Given the description of an element on the screen output the (x, y) to click on. 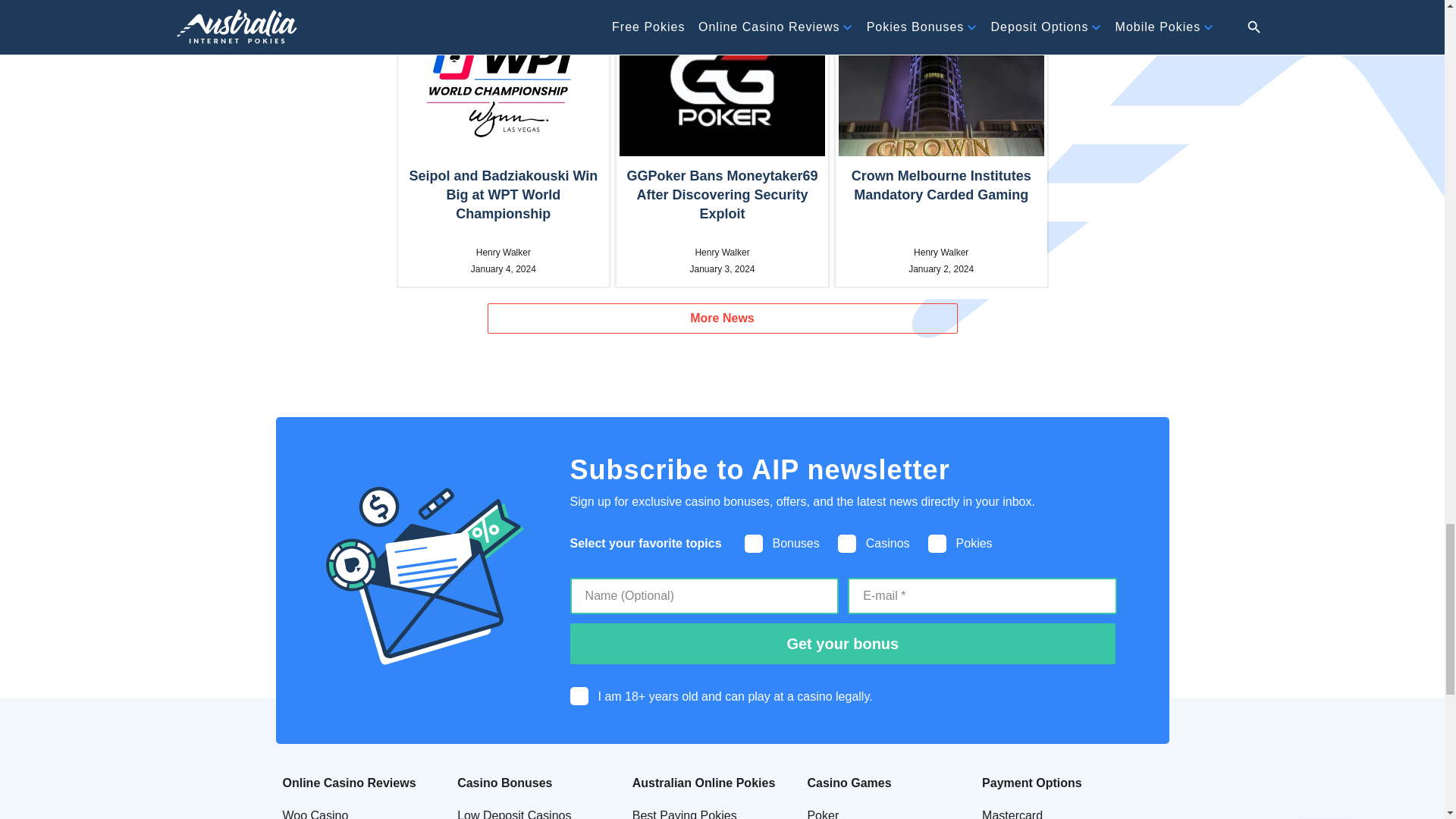
More News (721, 318)
Get your bonus (843, 643)
